Given the description of an element on the screen output the (x, y) to click on. 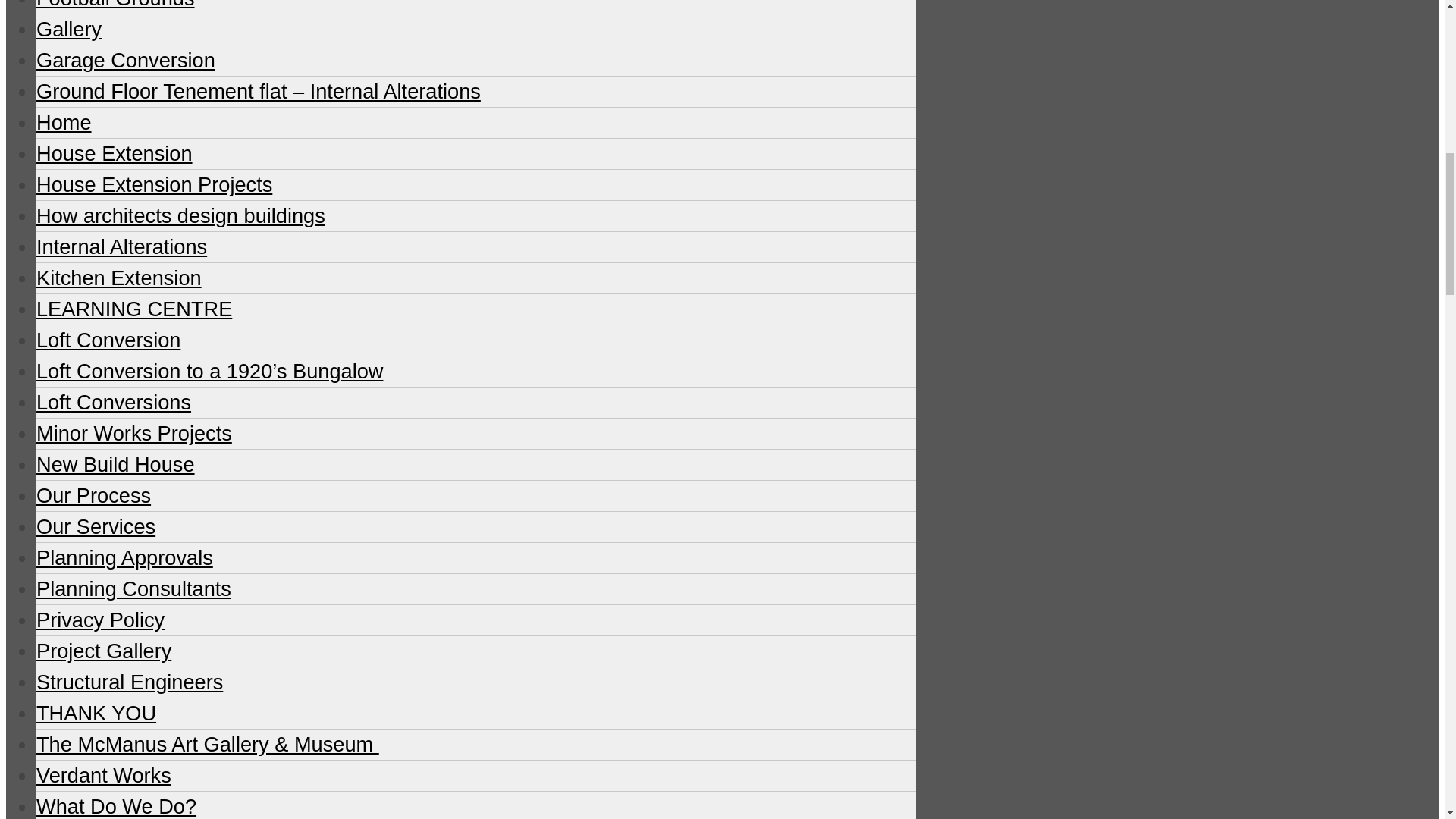
Home (63, 122)
Garage Conversion (125, 60)
Minor Works Projects (133, 433)
Football Grounds (115, 4)
New Build House (115, 463)
Loft Conversions (113, 402)
Kitchen Extension (119, 277)
Loft Conversion (108, 340)
How architects design buildings (180, 215)
House Extension (114, 153)
Gallery (68, 28)
LEARNING CENTRE (133, 309)
Internal Alterations (121, 246)
House Extension Projects (154, 184)
